Given the description of an element on the screen output the (x, y) to click on. 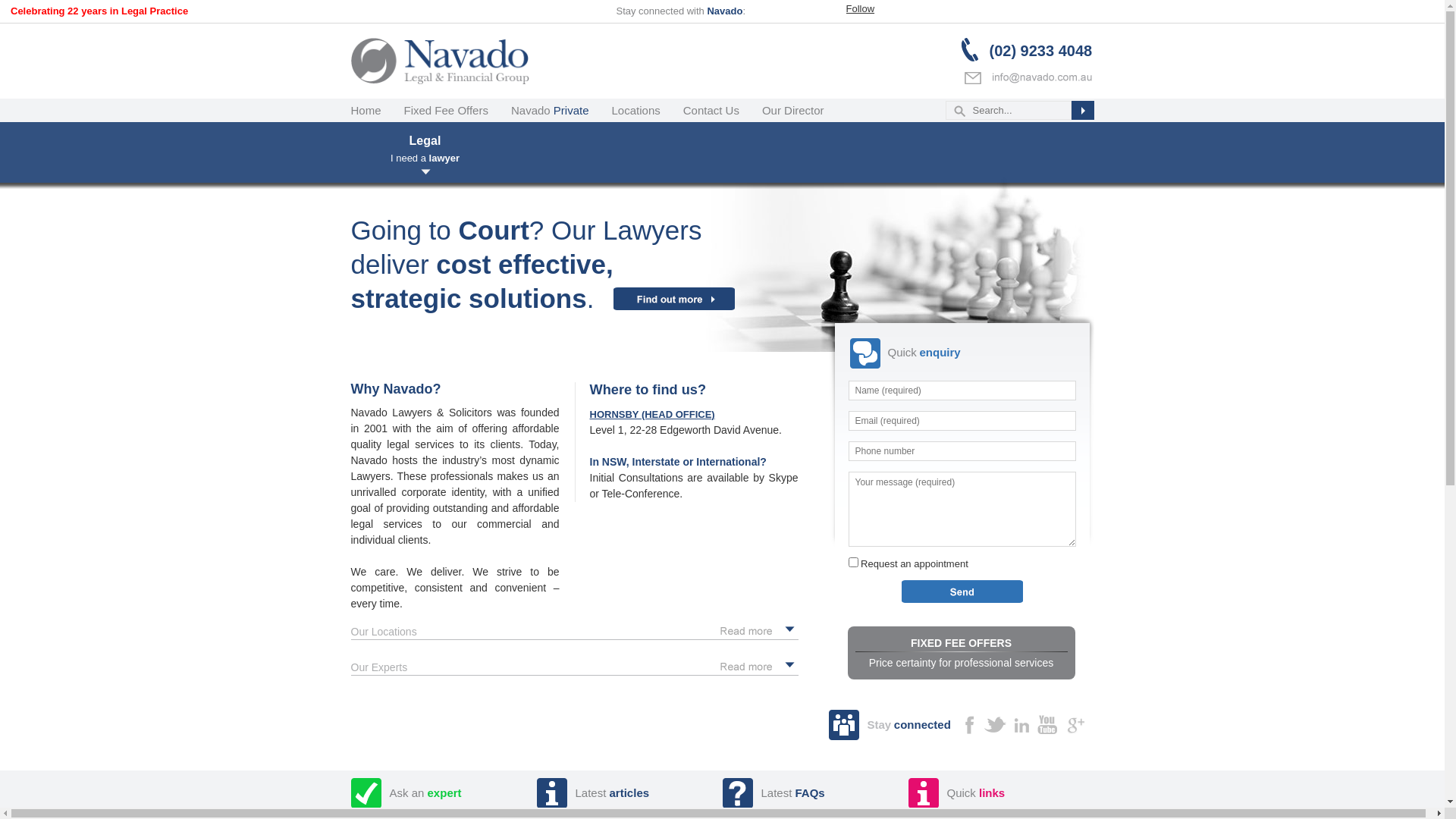
Locations Element type: text (647, 110)
Fixed Fee Offers Element type: text (457, 110)
(02) 9233 4048 Element type: text (1027, 49)
Follow Element type: text (860, 8)
Our Director Element type: text (804, 110)
Navado Private Element type: text (561, 110)
Legal
I need a lawyer Element type: text (424, 156)
FIXED FEE OFFERS
Price certainty for professional services Element type: text (961, 652)
HORNSBY (HEAD OFFICE) Element type: text (652, 414)
Contact Us Element type: text (722, 110)
Home Element type: text (376, 110)
